Given the description of an element on the screen output the (x, y) to click on. 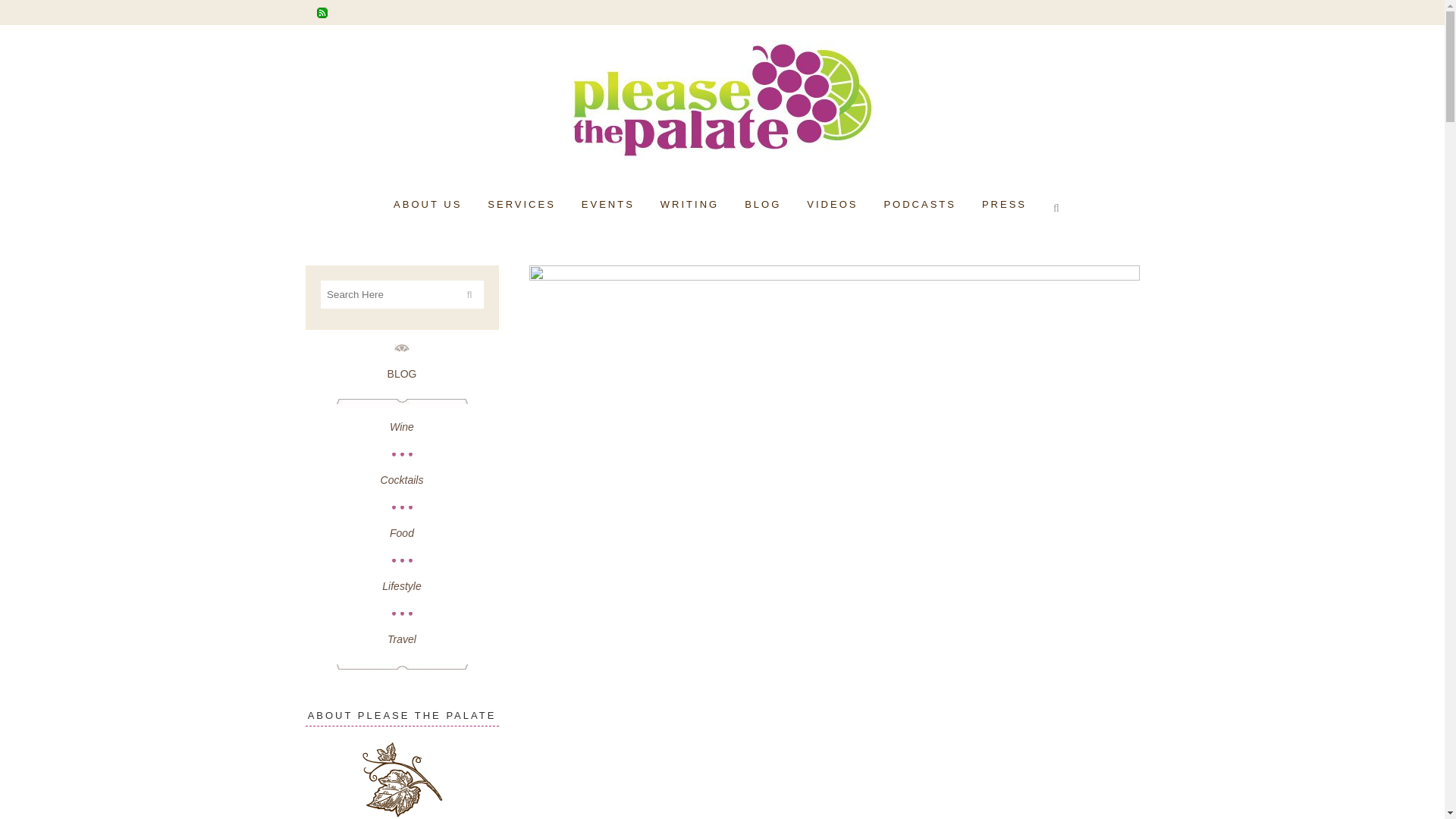
WRITING (689, 204)
PODCASTS (919, 204)
EVENTS (608, 204)
SERVICES (521, 204)
ABOUT US (427, 204)
PRESS (1004, 204)
VIDEOS (831, 204)
